Given the description of an element on the screen output the (x, y) to click on. 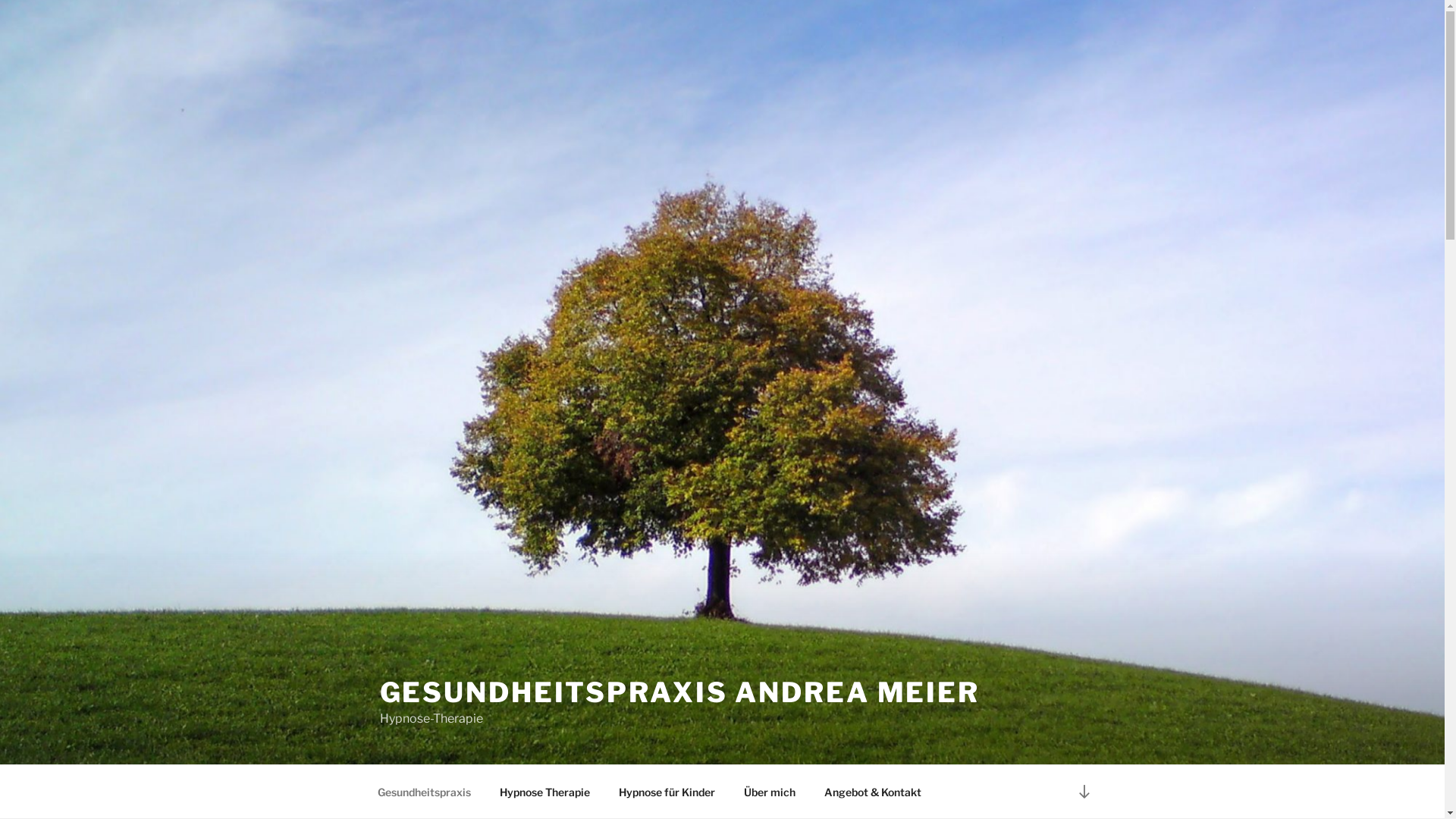
Zum Inhalt nach unten scrollen Element type: text (1083, 790)
Angebot & Kontakt Element type: text (873, 791)
Hypnose Therapie Element type: text (544, 791)
Gesundheitspraxis Element type: text (423, 791)
Zum Inhalt springen Element type: text (0, 0)
GESUNDHEITSPRAXIS ANDREA MEIER Element type: text (679, 692)
